Given the description of an element on the screen output the (x, y) to click on. 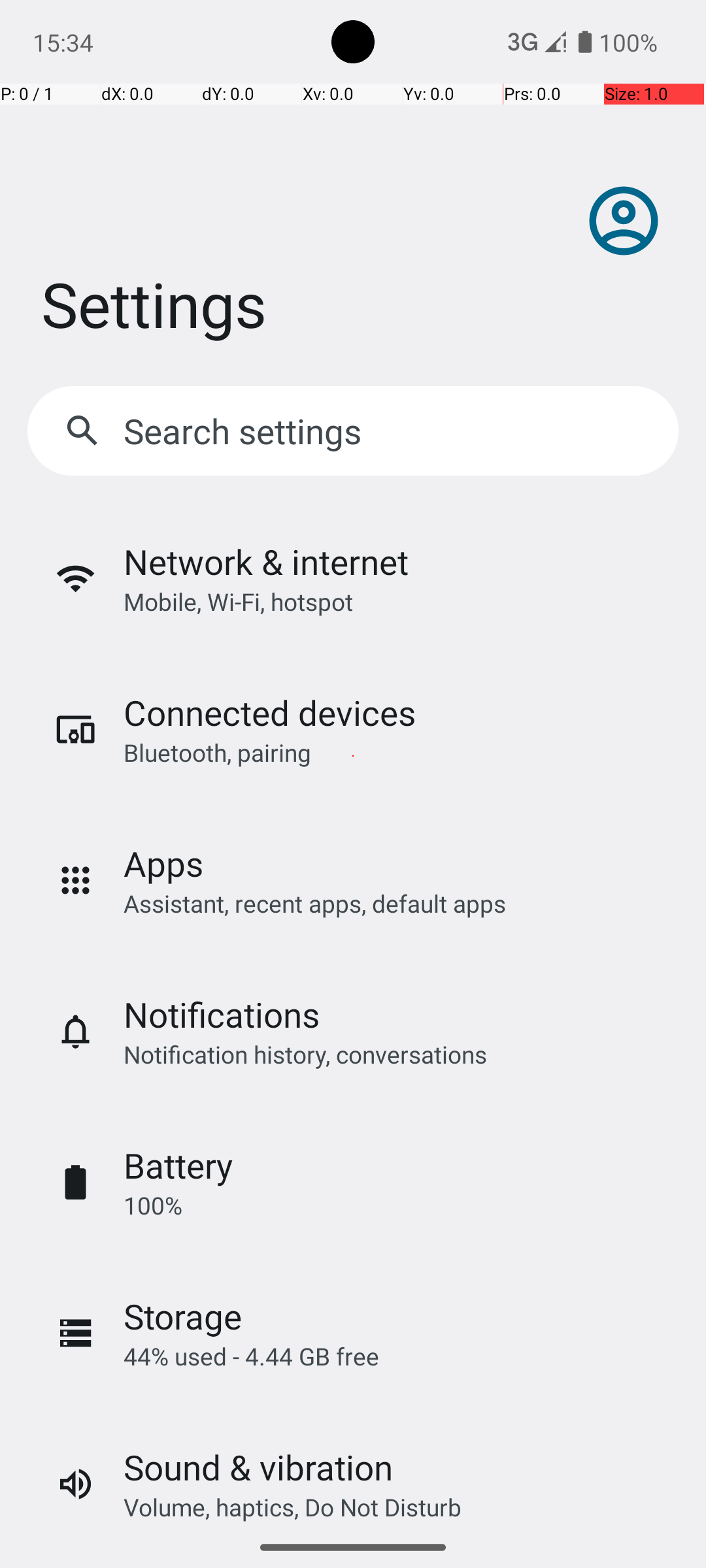
44% used - 4.44 GB free Element type: android.widget.TextView (251, 1355)
